Given the description of an element on the screen output the (x, y) to click on. 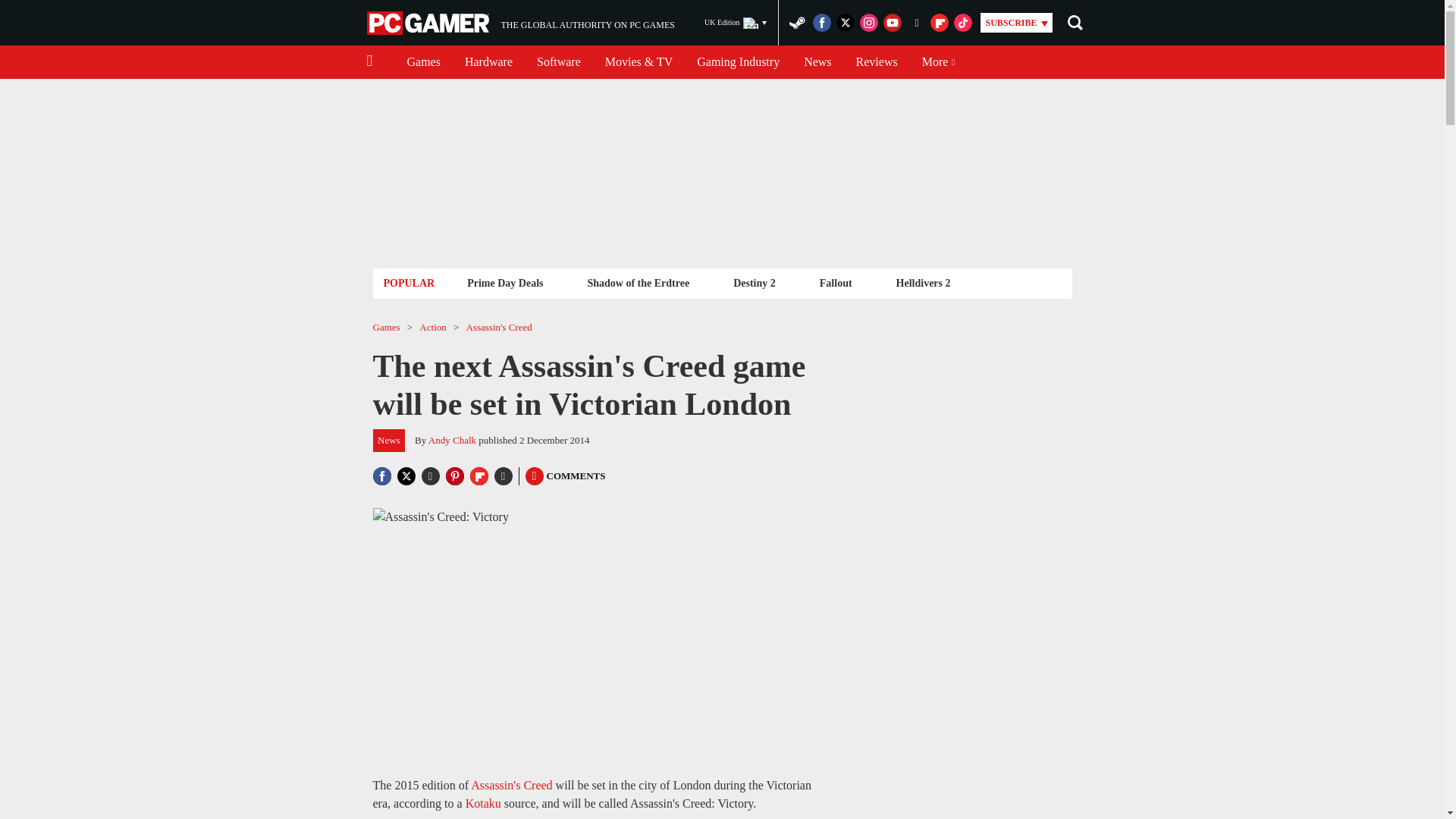
UK Edition (735, 22)
PC Gamer (429, 22)
Gaming Industry (738, 61)
News (520, 22)
Games (817, 61)
Shadow of the Erdtree (422, 61)
Software (637, 282)
Reviews (558, 61)
Prime Day Deals (877, 61)
Hardware (504, 282)
